Given the description of an element on the screen output the (x, y) to click on. 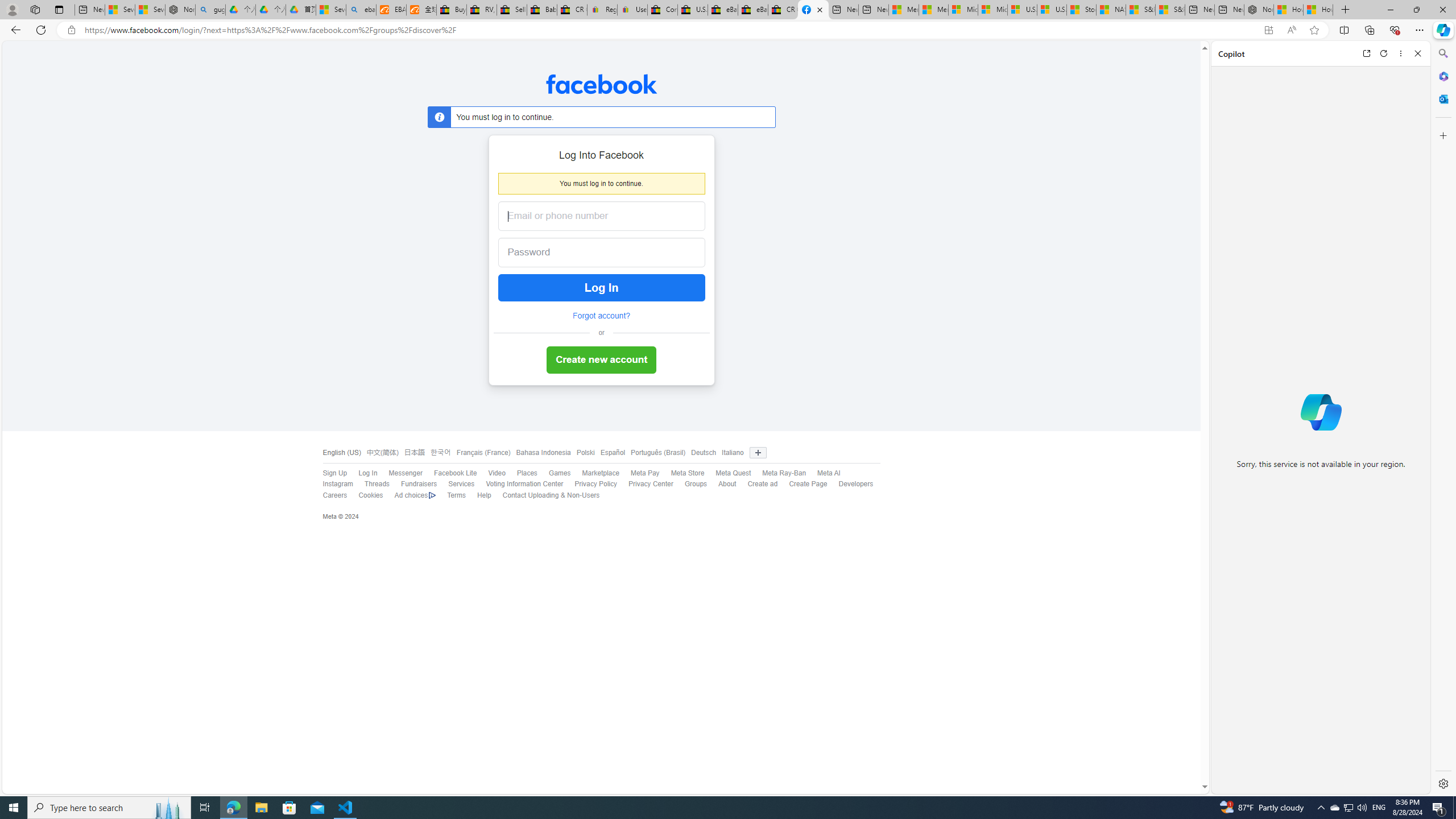
Create ad (761, 483)
Password (592, 252)
Log In (600, 288)
Facebook Lite (455, 473)
App available. Install Facebook (1268, 29)
Email or phone number (600, 216)
Privacy Policy (590, 484)
Create ad (756, 484)
Meta Quest (732, 473)
